Given the description of an element on the screen output the (x, y) to click on. 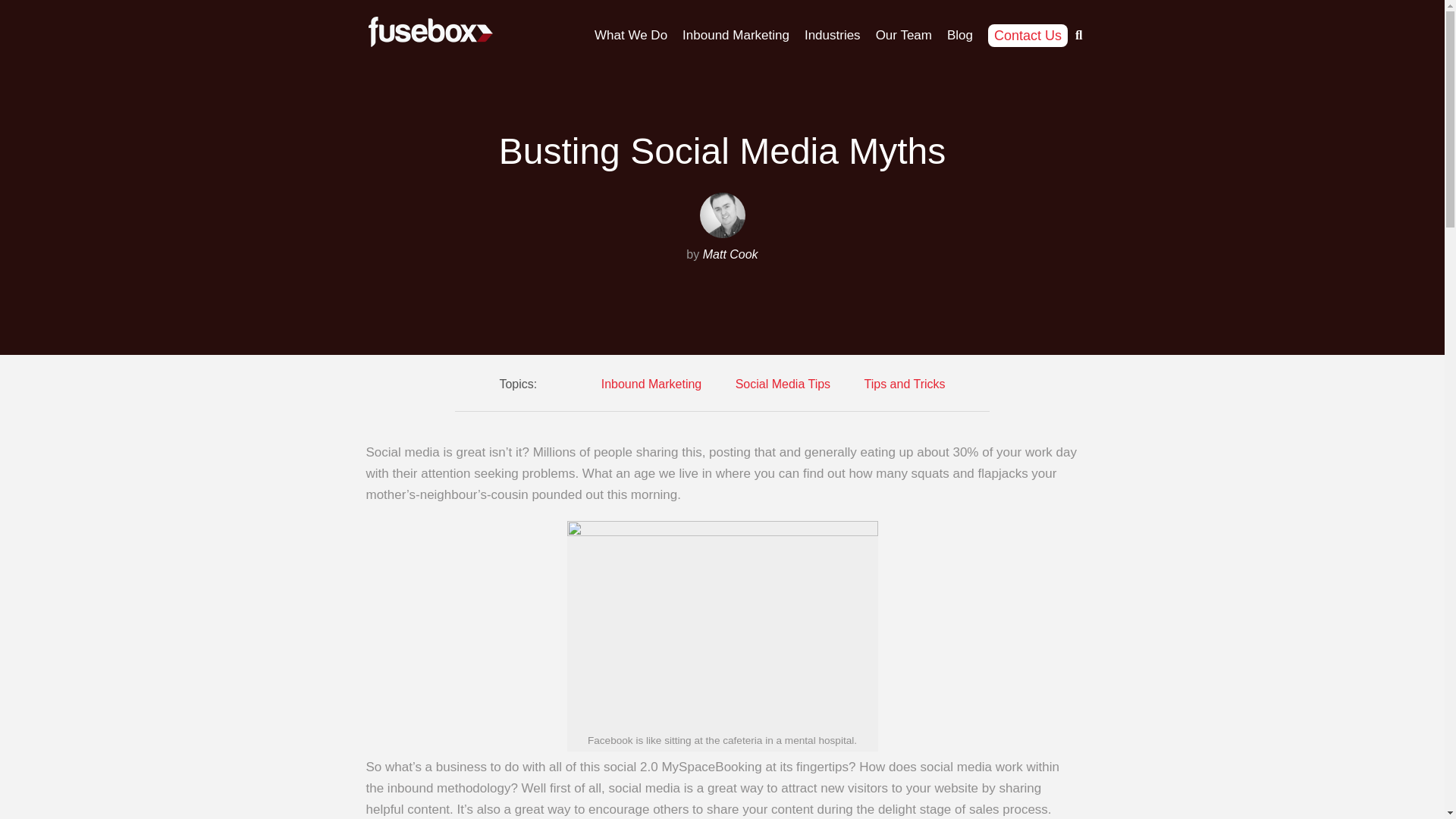
Tips and Tricks (904, 383)
Blog (959, 35)
Posts by Matt Cook (730, 254)
Industries (832, 35)
Fusebox Creative (429, 31)
Contact Us (1027, 35)
More posts by Matt (721, 215)
crazy (722, 624)
What We Do (630, 35)
Our Team (903, 35)
Inbound Marketing (651, 383)
Matt Cook (730, 254)
Social Media Tips (782, 383)
Inbound Marketing (735, 35)
